Given the description of an element on the screen output the (x, y) to click on. 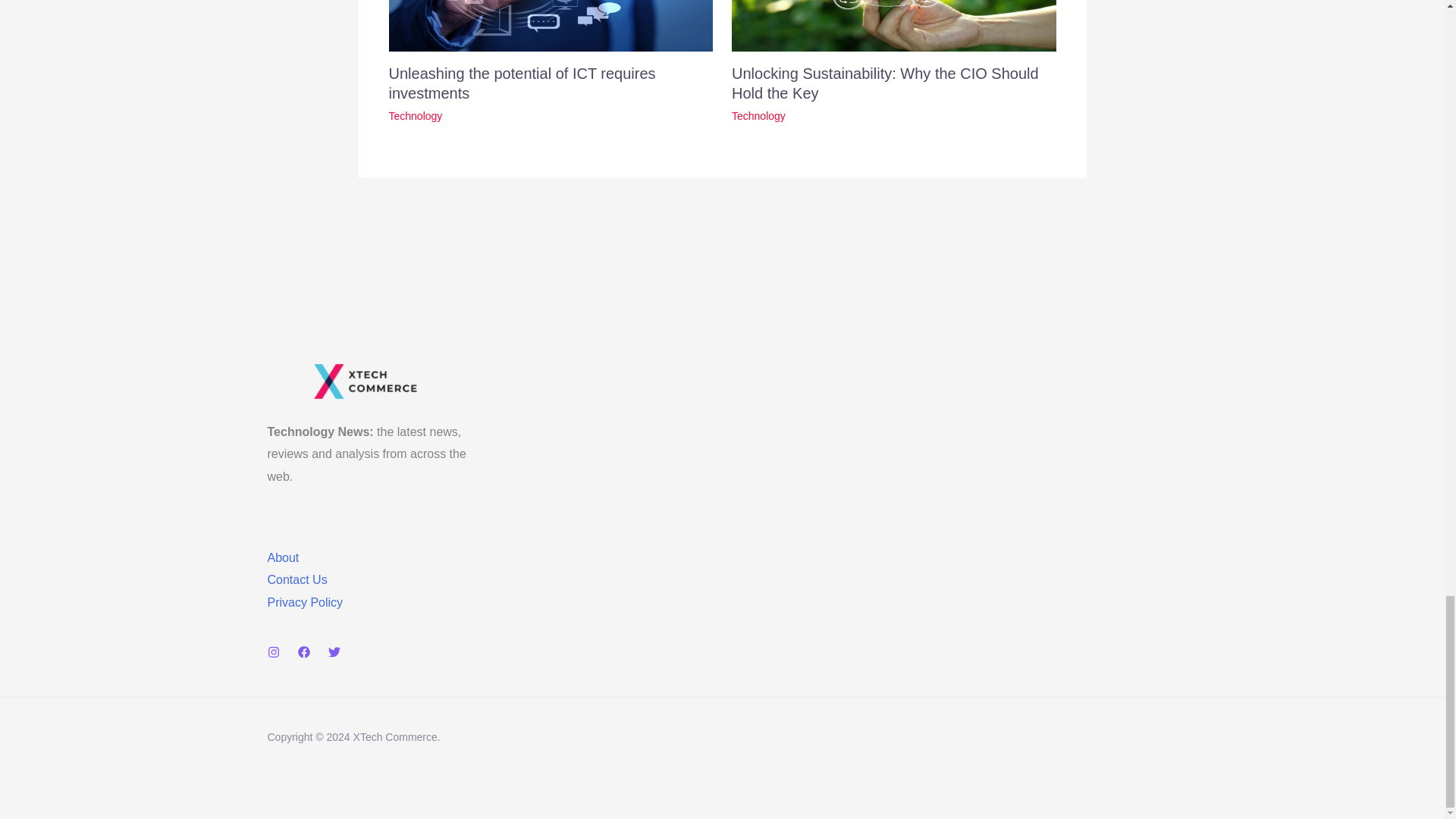
Technology (415, 115)
Technology (759, 115)
About (282, 557)
Unlocking Sustainability: Why the CIO Should Hold the Key (885, 83)
Contact Us (296, 579)
Unleashing the potential of ICT requires investments (521, 83)
Privacy Policy (304, 602)
